Given the description of an element on the screen output the (x, y) to click on. 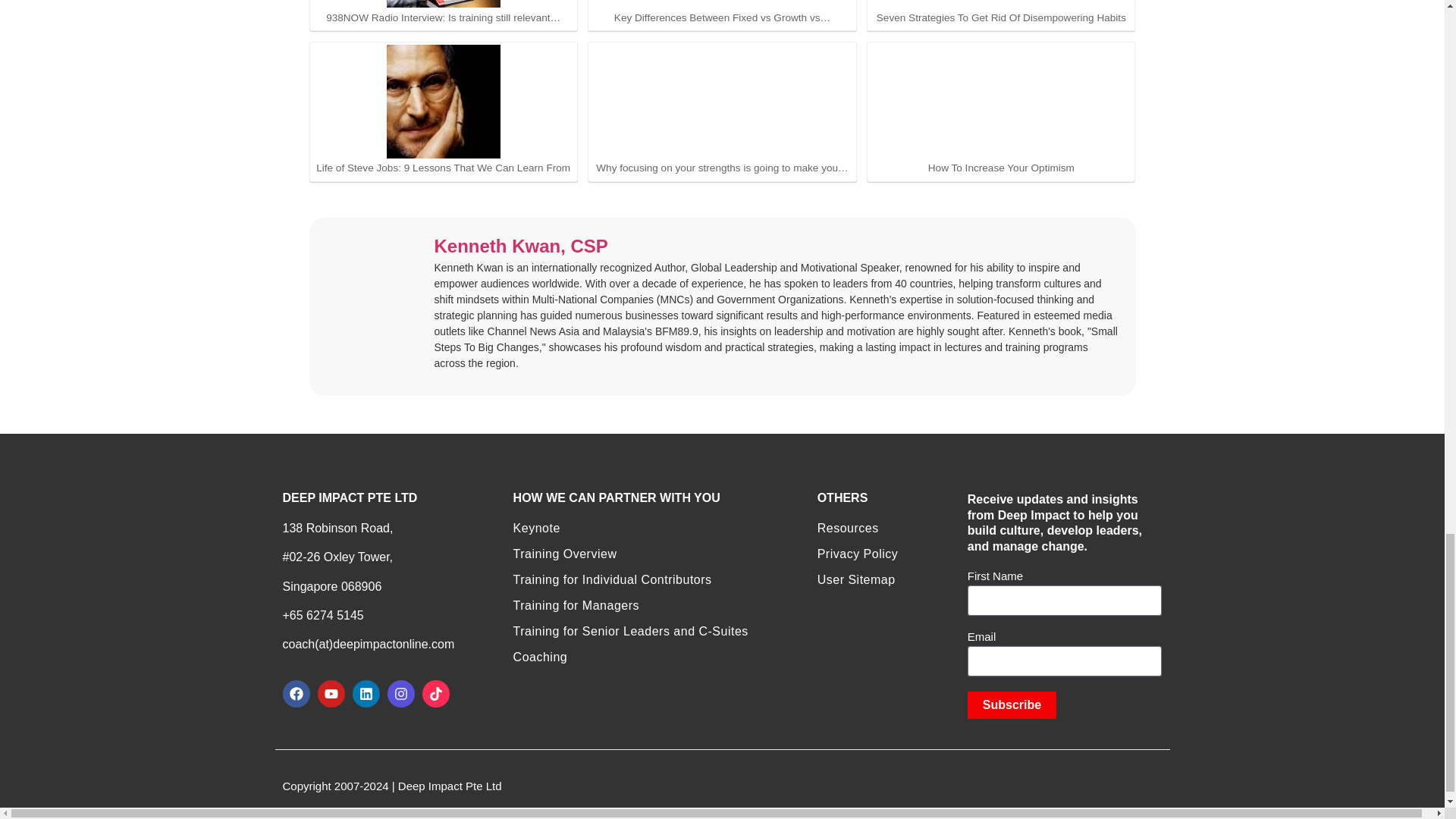
Life of Steve Jobs: 9 Lessons That We Can Learn From (443, 101)
How To Increase Your Optimism (1000, 110)
Life of Steve Jobs: 9 Lessons That We Can Learn From (444, 110)
How To Increase Your Optimism (1000, 101)
Seven Strategies To Get Rid Of Disempowering Habits (1000, 12)
Kenneth Kwan, CSP (520, 247)
Seven Strategies To Get Rid Of Disempowering Habits (1000, 3)
